Given the description of an element on the screen output the (x, y) to click on. 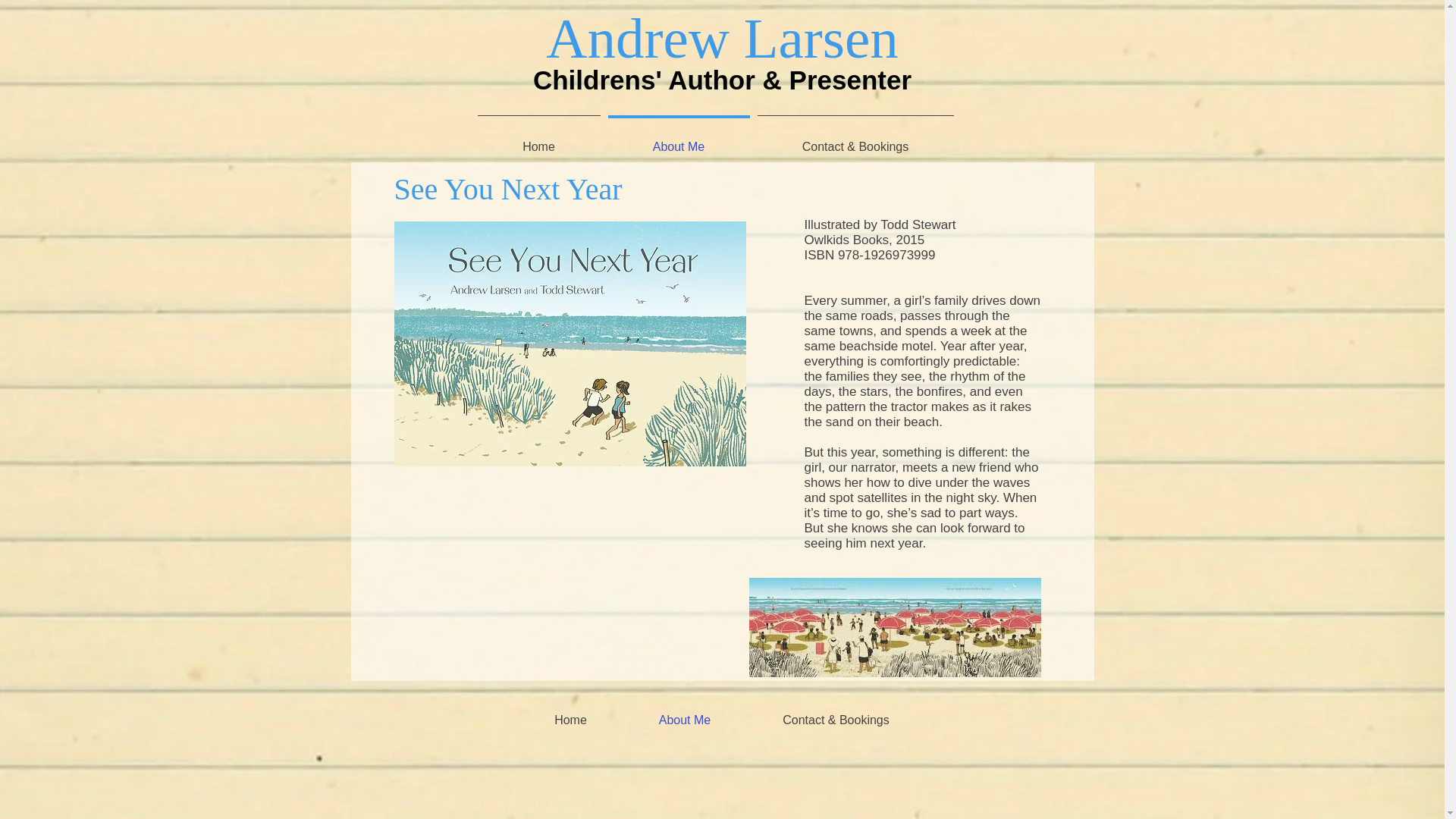
Home Element type: text (538, 139)
Contact & Bookings Element type: text (855, 139)
Home Element type: text (570, 720)
Contact & Bookings Element type: text (835, 720)
About Me Element type: text (684, 720)
About Me Element type: text (678, 139)
